Given the description of an element on the screen output the (x, y) to click on. 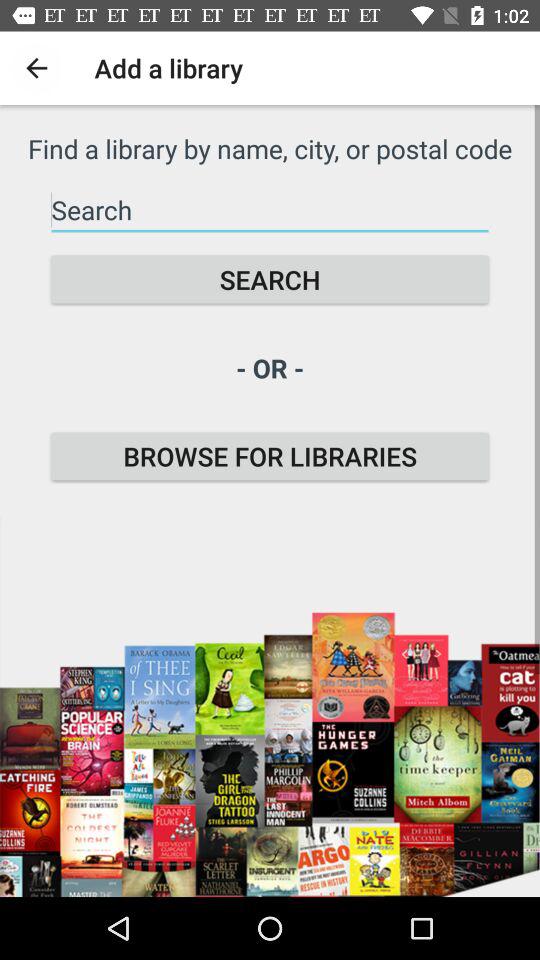
select icon above the - or - item (269, 279)
